Given the description of an element on the screen output the (x, y) to click on. 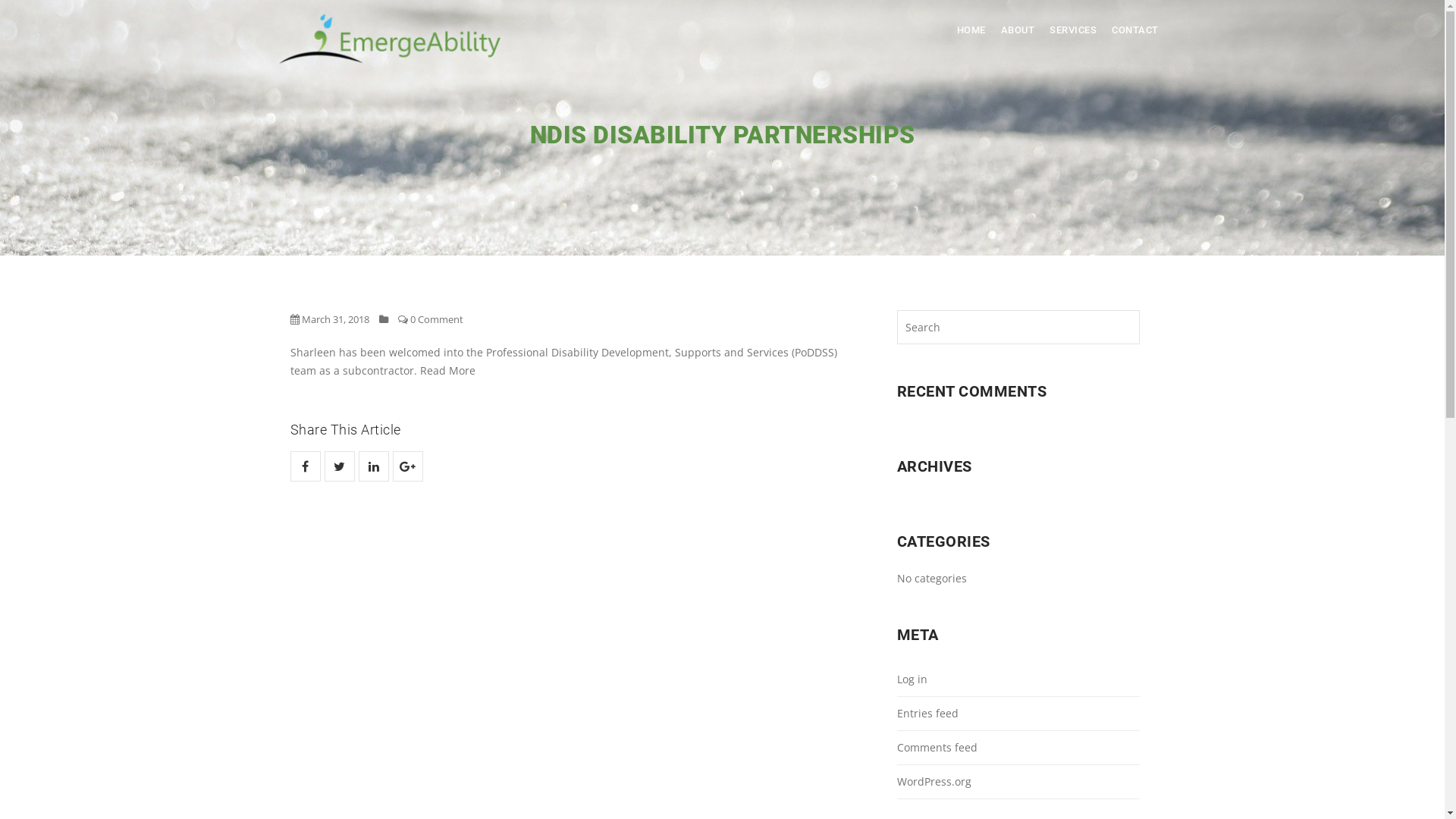
Entries feed Element type: text (1017, 713)
ABOUT Element type: text (1017, 30)
Log in Element type: text (1017, 679)
HOME Element type: text (971, 30)
SERVICES Element type: text (1072, 30)
Read More Element type: text (447, 370)
0 Comment Element type: text (429, 319)
Comments feed Element type: text (1017, 748)
WordPress.org Element type: text (1017, 782)
March 31, 2018 Element type: text (328, 319)
   Element type: text (304, 466)
CONTACT Element type: text (1135, 30)
